Given the description of an element on the screen output the (x, y) to click on. 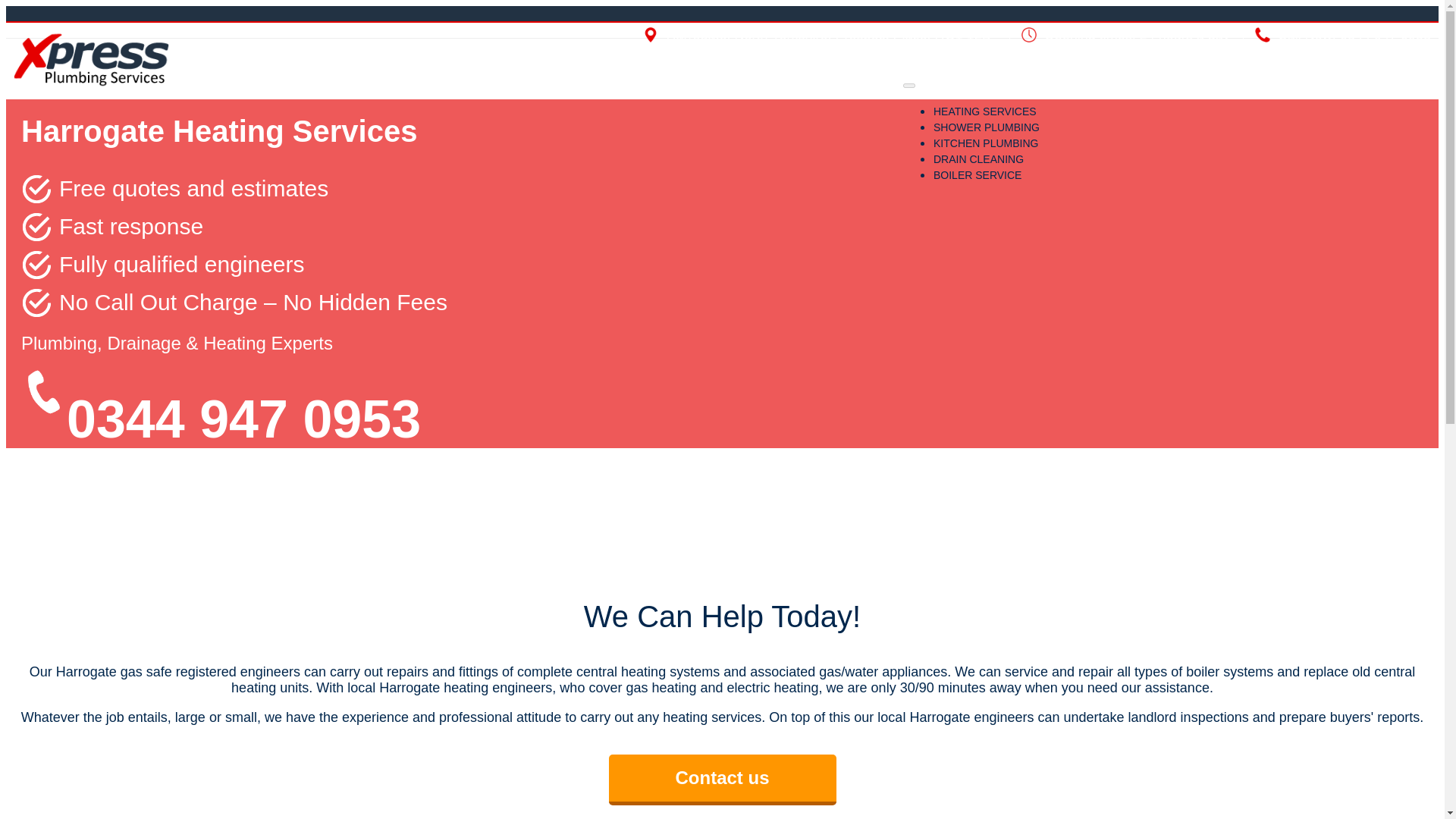
SHOWER PLUMBING (986, 127)
KITCHEN PLUMBING (985, 143)
Kitchen Plumbing (985, 143)
BOILER SERVICE (977, 174)
Boiler Service (977, 174)
Toggle navigation (908, 85)
HEATING SERVICES (984, 111)
Contact us (721, 779)
0344 947 0953 (1385, 34)
Heating Services (984, 111)
Shower Plumbing (986, 127)
0344 947 0953 (243, 418)
Drain Cleaning (978, 159)
DRAIN CLEANING (978, 159)
